Given the description of an element on the screen output the (x, y) to click on. 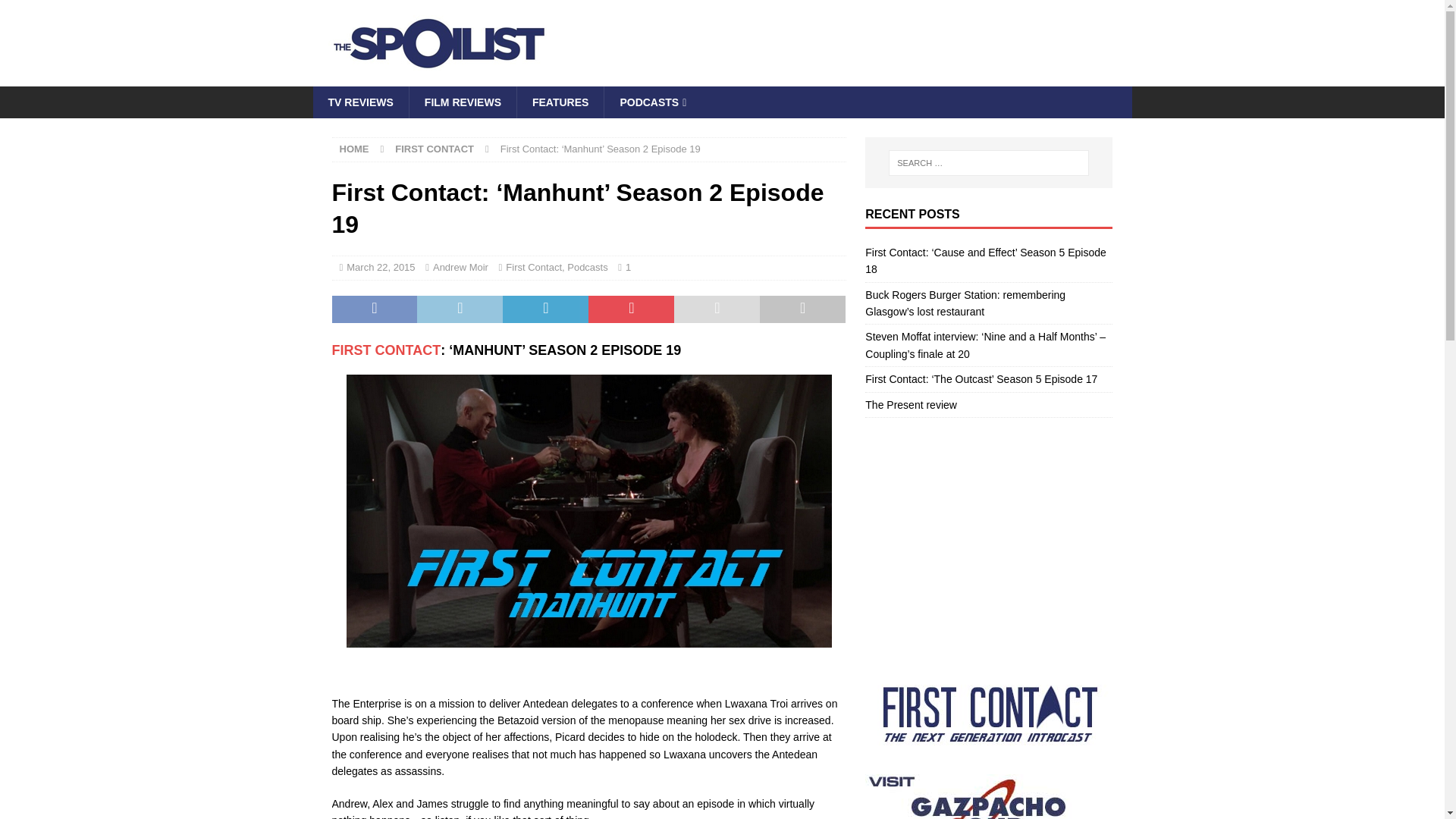
March 22, 2015 (380, 266)
Podcasts (587, 266)
TV REVIEWS (360, 101)
FEATURES (560, 101)
PODCASTS (652, 101)
HOME (354, 148)
First Contact (533, 266)
FIRST CONTACT (386, 350)
First Contact (386, 350)
FILM REVIEWS (462, 101)
FIRST CONTACT (434, 148)
Andrew Moir (459, 266)
